Given the description of an element on the screen output the (x, y) to click on. 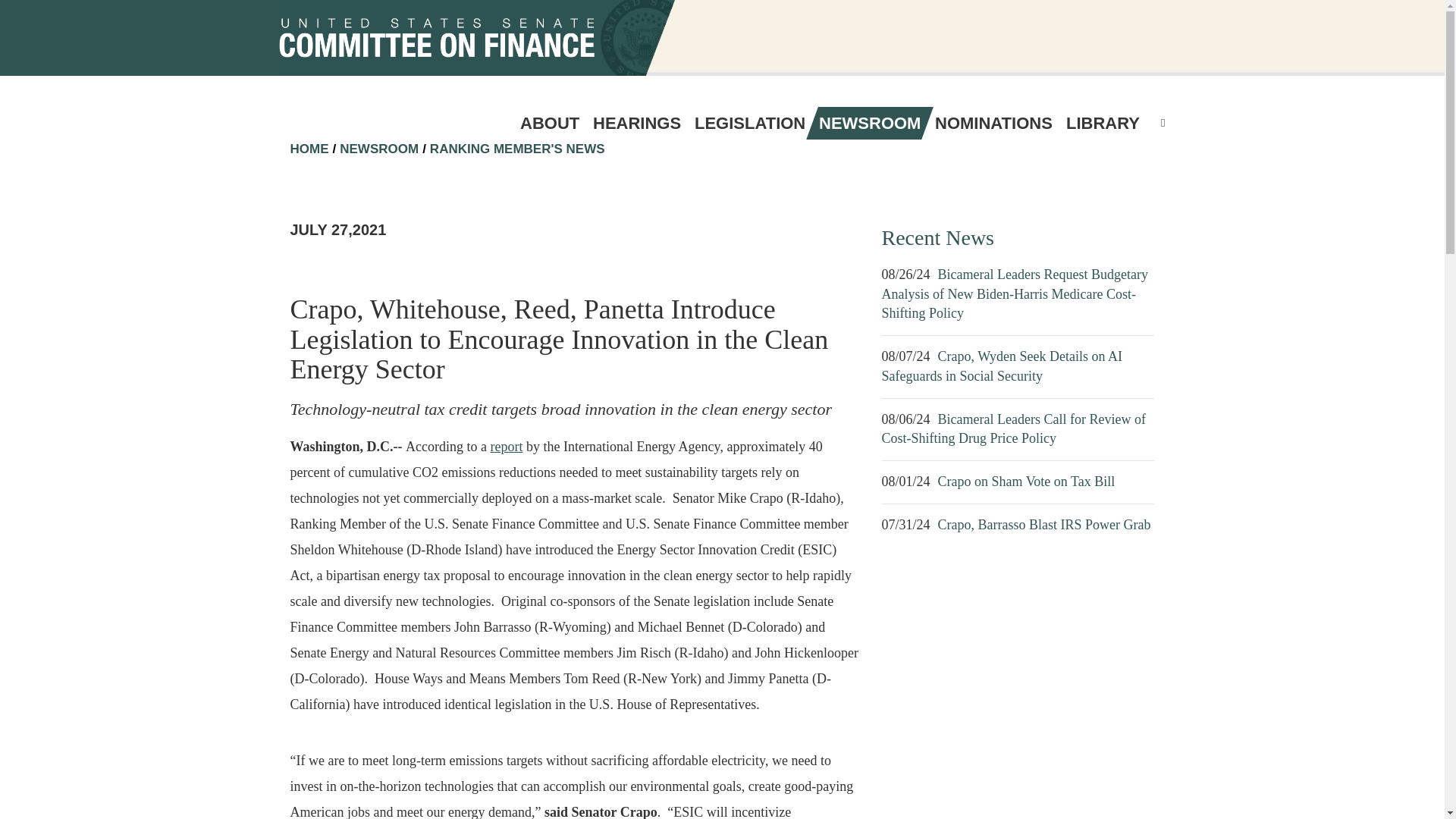
HEARINGS (636, 123)
LEGISLATION (749, 123)
NOMINATIONS (993, 123)
